Given the description of an element on the screen output the (x, y) to click on. 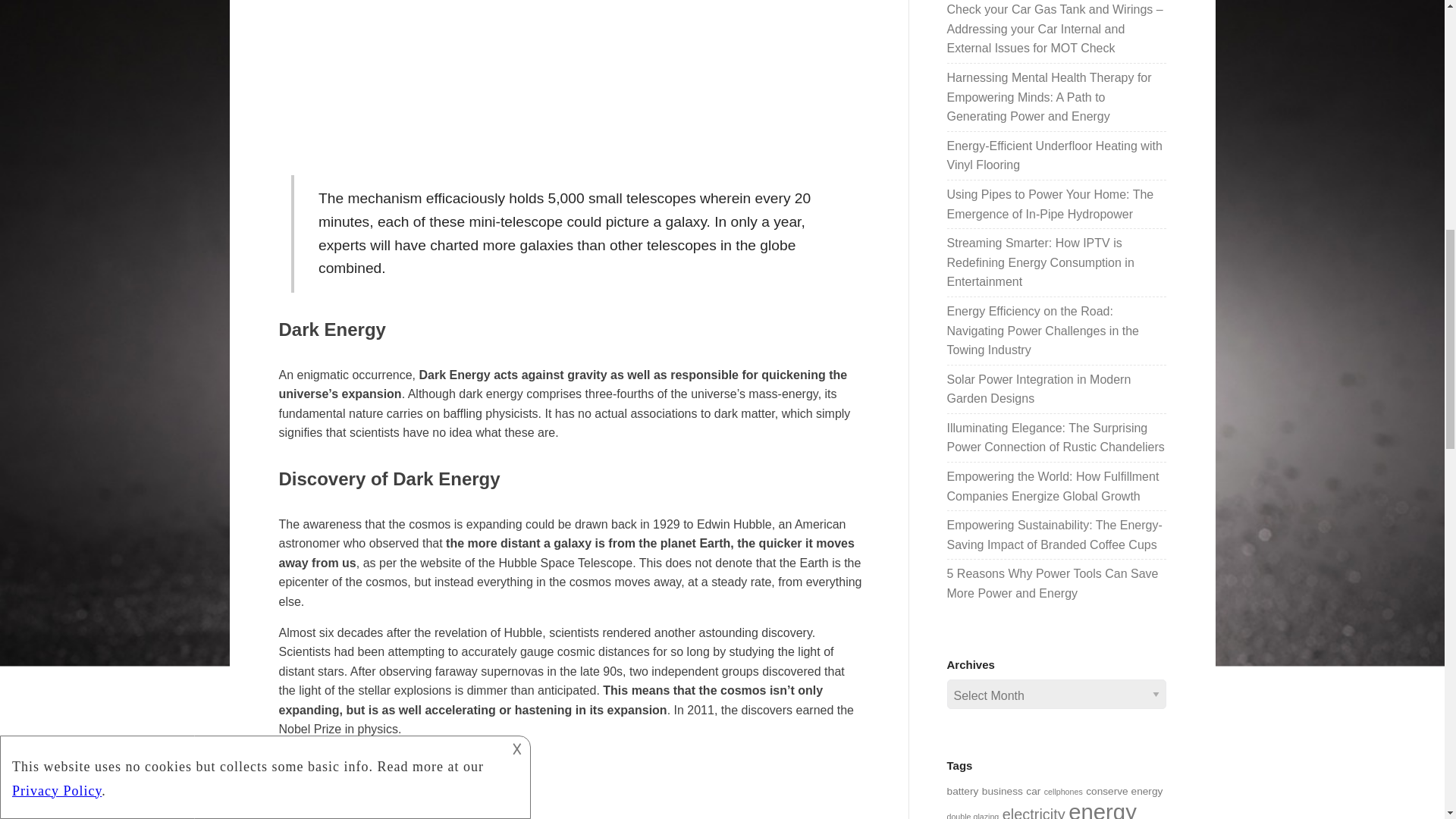
What is Dark Energy? (521, 785)
5 Reasons Why Power Tools Can Save More Power and Energy (1052, 583)
Energy-Efficient Underfloor Heating with Vinyl Flooring (1054, 155)
business (1002, 790)
Solar Power Integration in Modern Garden Designs (1039, 389)
